Given the description of an element on the screen output the (x, y) to click on. 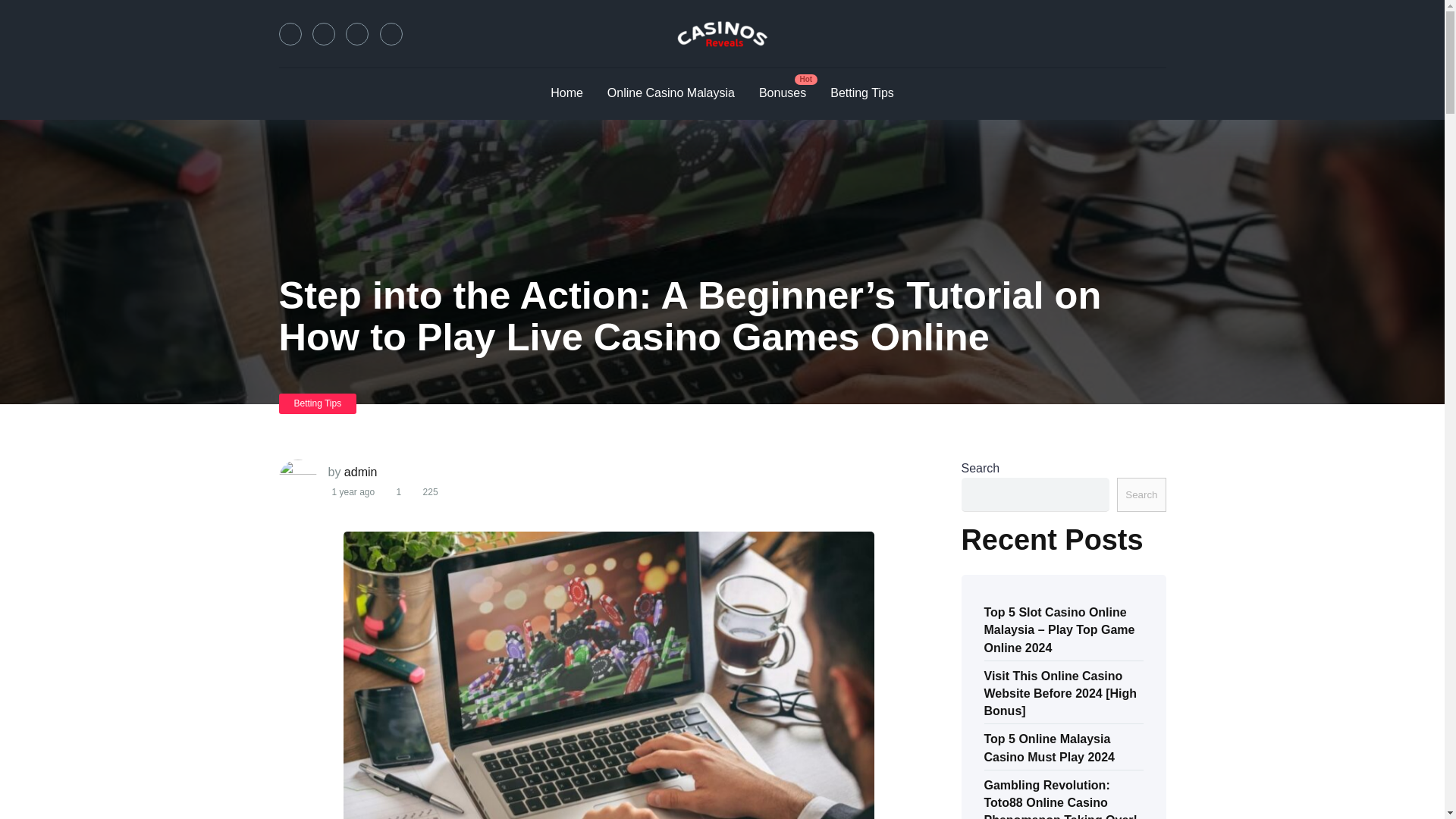
Home (566, 93)
Bonuses (782, 93)
Facebook (290, 33)
Twitter (323, 33)
Reddit (391, 33)
Posts by admin (360, 472)
YouTube (357, 33)
Betting Tips (317, 403)
Online Casino Malaysia (670, 93)
Betting Tips (861, 93)
